Given the description of an element on the screen output the (x, y) to click on. 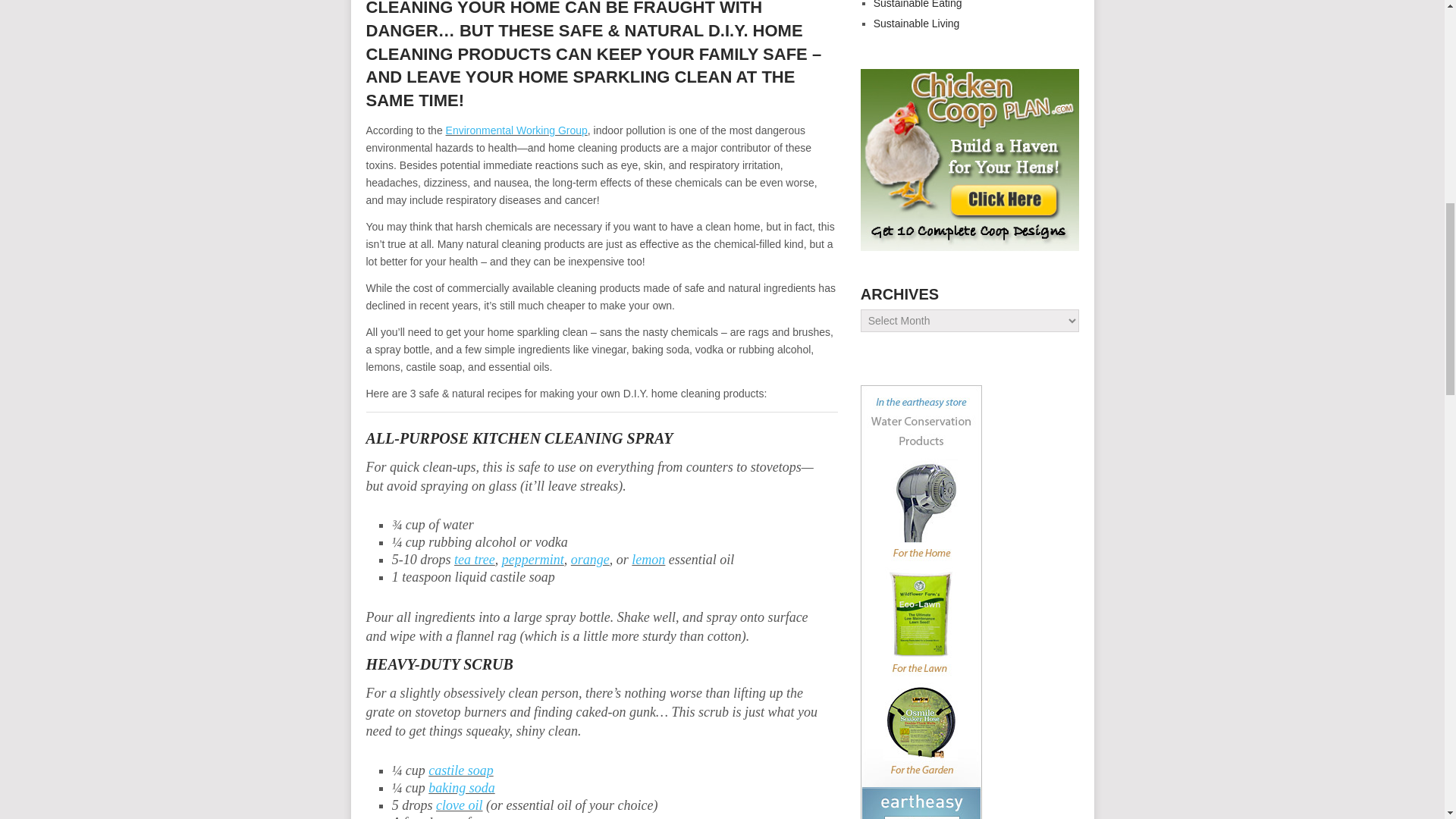
clove oil (458, 805)
Environmental Working Group (516, 130)
orange (590, 559)
baking soda (461, 787)
peppermint (533, 559)
castile soap (460, 770)
tea tree (474, 559)
lemon (648, 559)
